Given the description of an element on the screen output the (x, y) to click on. 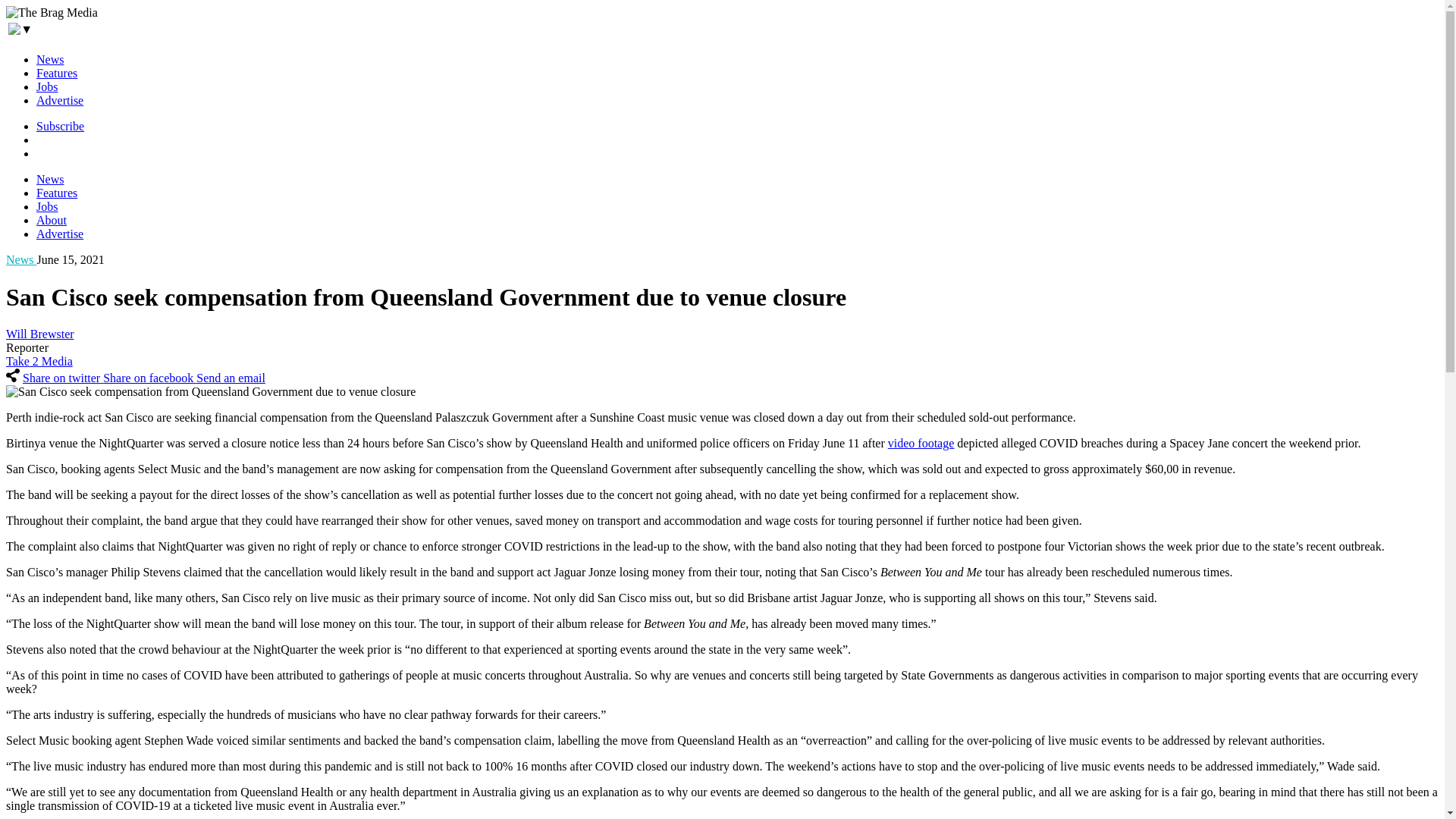
Features (56, 72)
News (50, 59)
Jobs (47, 86)
The Brag Media (51, 12)
Advertise (59, 100)
Subscribe (60, 125)
